Given the description of an element on the screen output the (x, y) to click on. 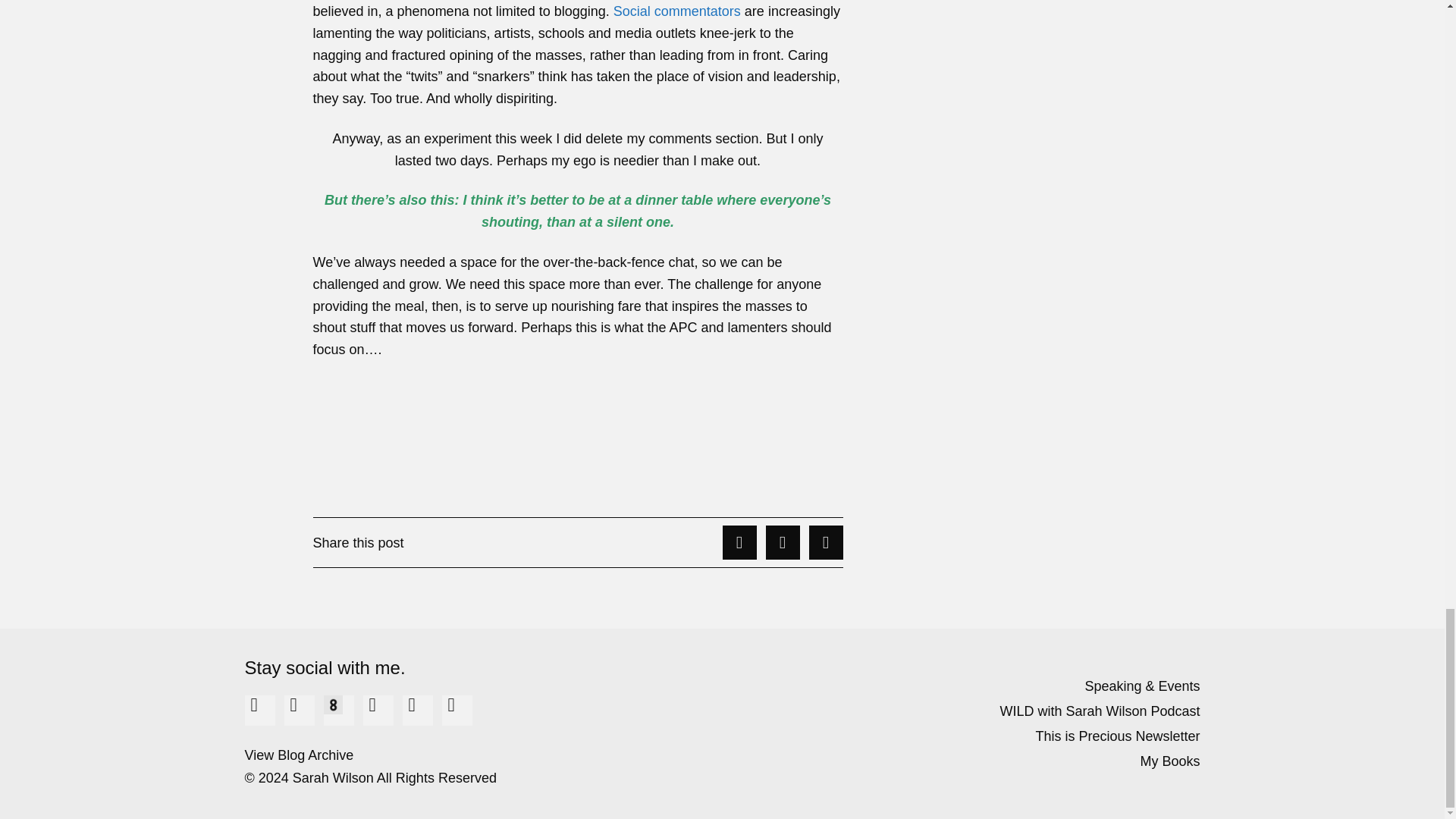
View Blog Archive (475, 754)
My Books (967, 761)
This is Precious Newsletter (967, 735)
Social commentators (676, 11)
WILD with Sarah Wilson Podcast (967, 711)
